Given the description of an element on the screen output the (x, y) to click on. 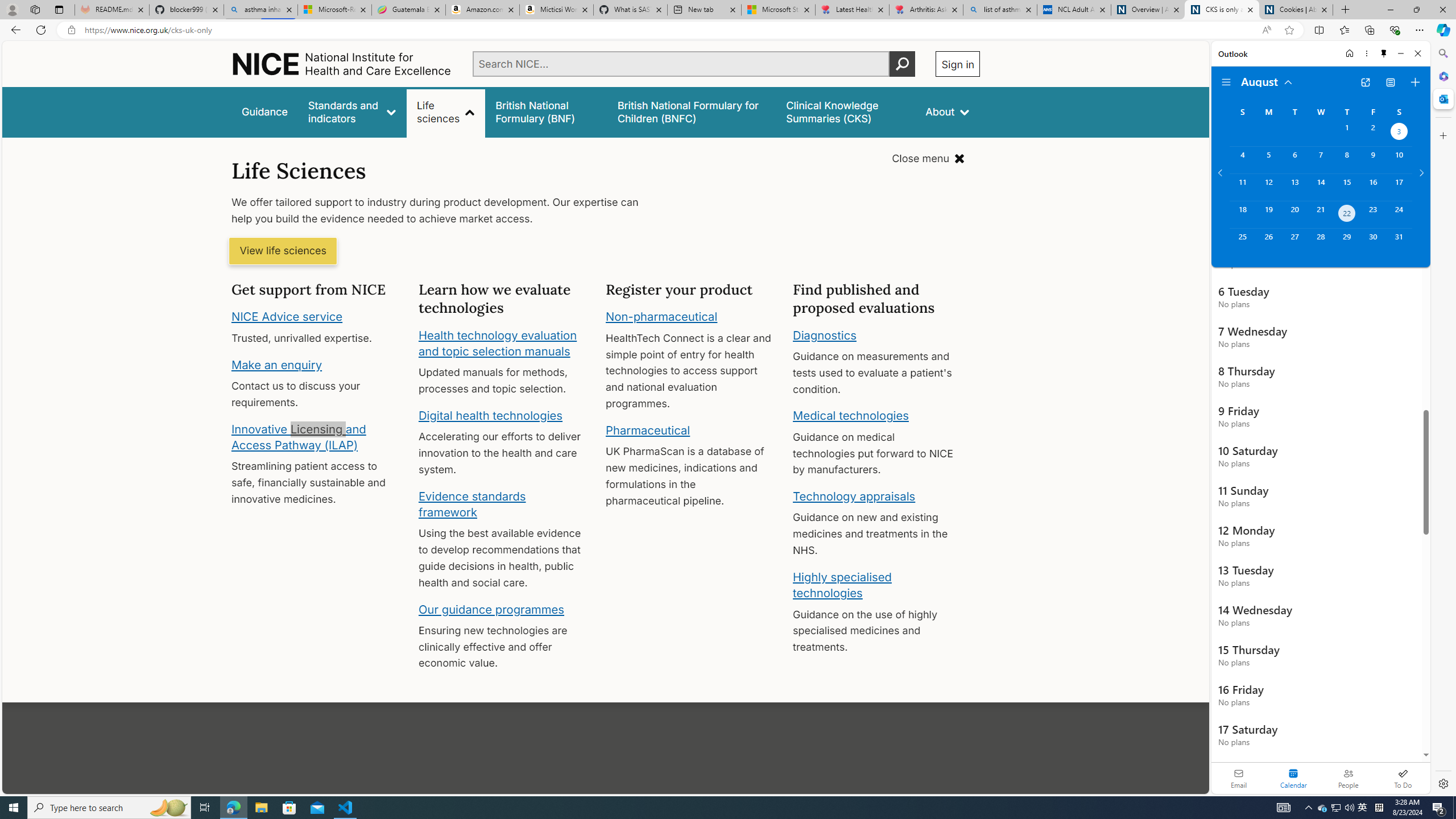
Wednesday, August 7, 2024.  (1320, 159)
Saturday, August 3, 2024. Date selected.  (1399, 132)
Wednesday, August 28, 2024.  (1320, 241)
